Given the description of an element on the screen output the (x, y) to click on. 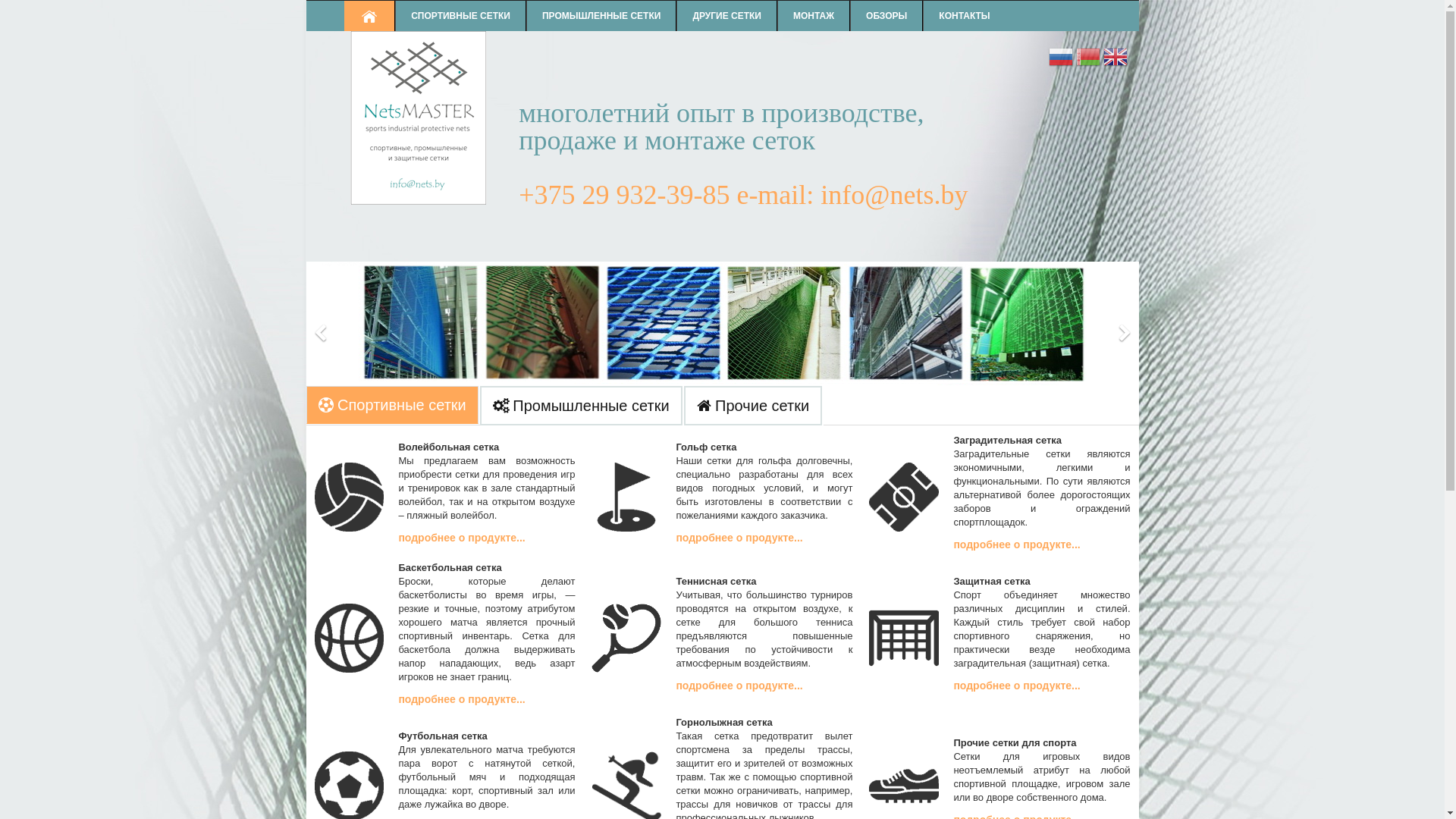
Russian Element type: hover (1060, 58)
Belarusian Element type: hover (1088, 58)
English Element type: hover (1114, 58)
   Element type: text (369, 15)
